Given the description of an element on the screen output the (x, y) to click on. 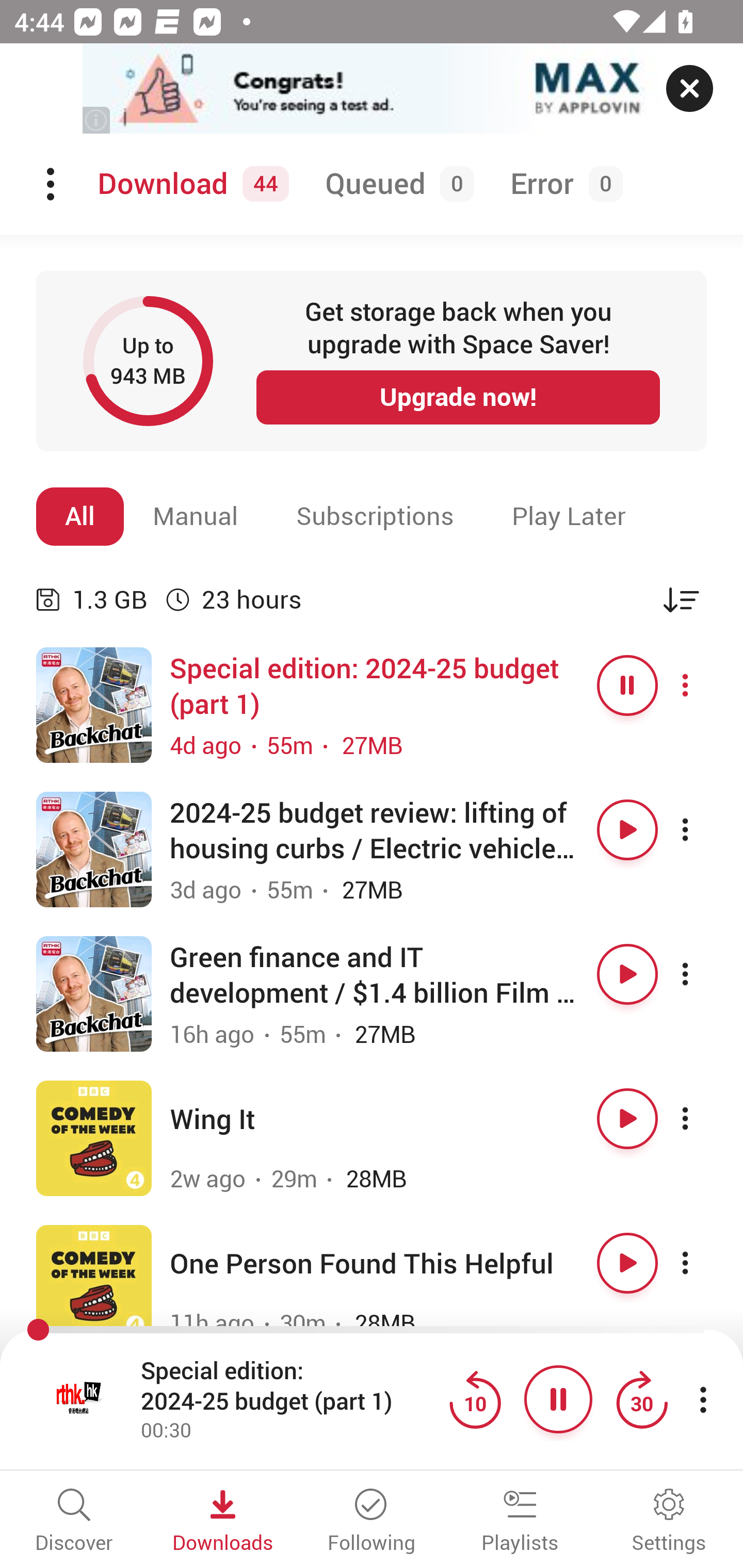
app-monetization (371, 88)
(i) (96, 119)
Menu (52, 184)
 Download 44 (189, 184)
 Queued 0 (396, 184)
 Error 0 (562, 184)
All (80, 516)
Manual (195, 516)
Subscriptions (374, 516)
Play Later (568, 516)
Change sort order (681, 599)
Pause button (627, 685)
More options (703, 685)
Open series Backchat (93, 705)
Play button (627, 830)
More options (703, 830)
Open series Backchat (93, 849)
Play button (627, 974)
More options (703, 974)
Open series Backchat (93, 994)
Play button (627, 1118)
More options (703, 1118)
Open series Comedy of the Week (93, 1138)
Play button (627, 1263)
More options (703, 1263)
Open series Comedy of the Week (93, 1282)
Open fullscreen player (79, 1399)
More player controls (703, 1399)
Special edition: 2024-25 budget (part 1) (290, 1385)
Pause button (558, 1398)
Jump back (475, 1399)
Jump forward (641, 1399)
Discover (74, 1521)
Downloads (222, 1521)
Following (371, 1521)
Playlists (519, 1521)
Settings (668, 1521)
